Given the description of an element on the screen output the (x, y) to click on. 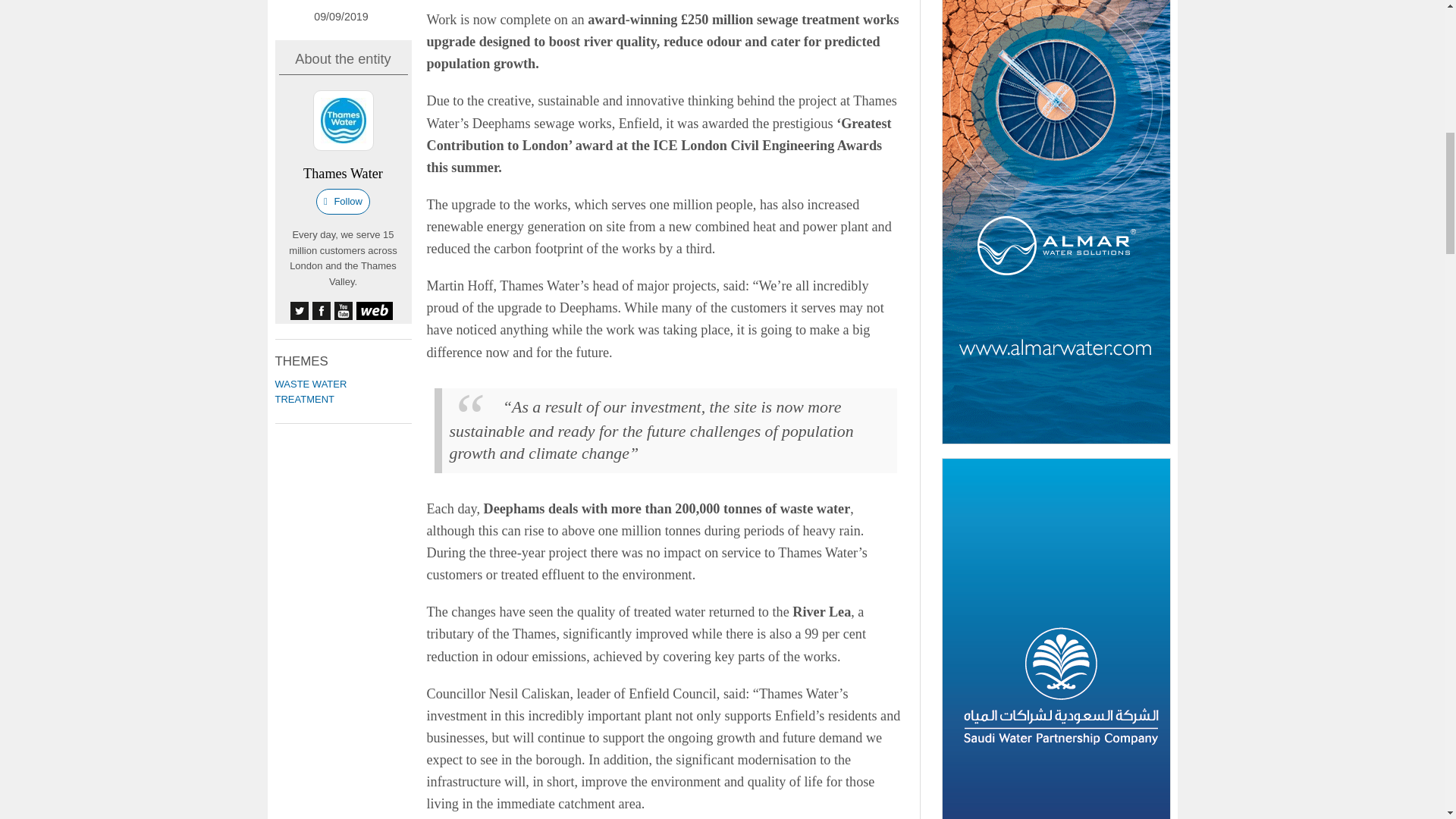
View Thames Water's website (374, 311)
View Thames Water's channel on Youtube (342, 311)
View Thames Water's profile on Twitter (298, 311)
View Thames Water's profile on Facebook (321, 311)
